Given the description of an element on the screen output the (x, y) to click on. 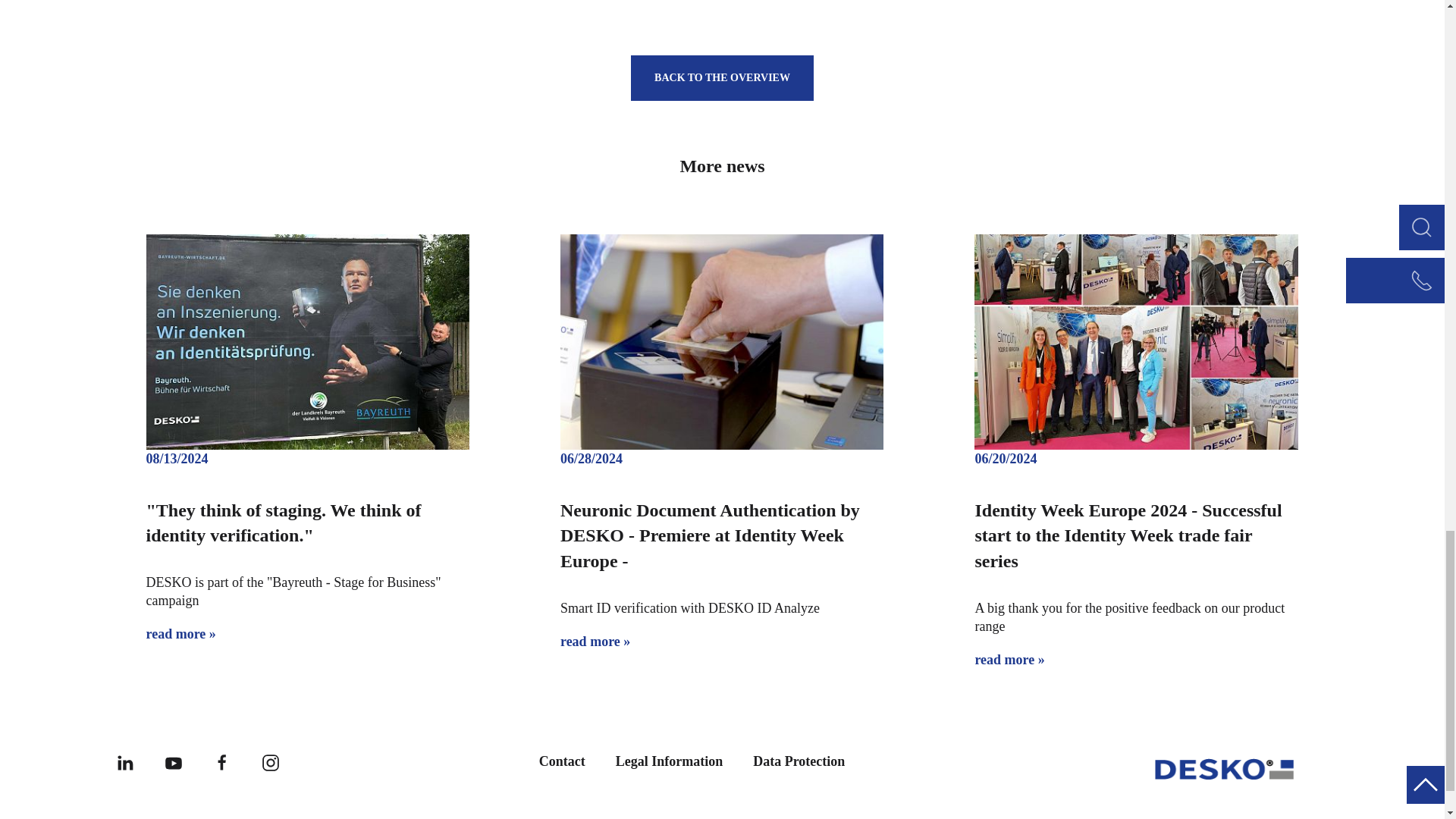
YouTube (172, 761)
Instagram (269, 761)
facebook (221, 761)
LinkedIn (124, 761)
